Given the description of an element on the screen output the (x, y) to click on. 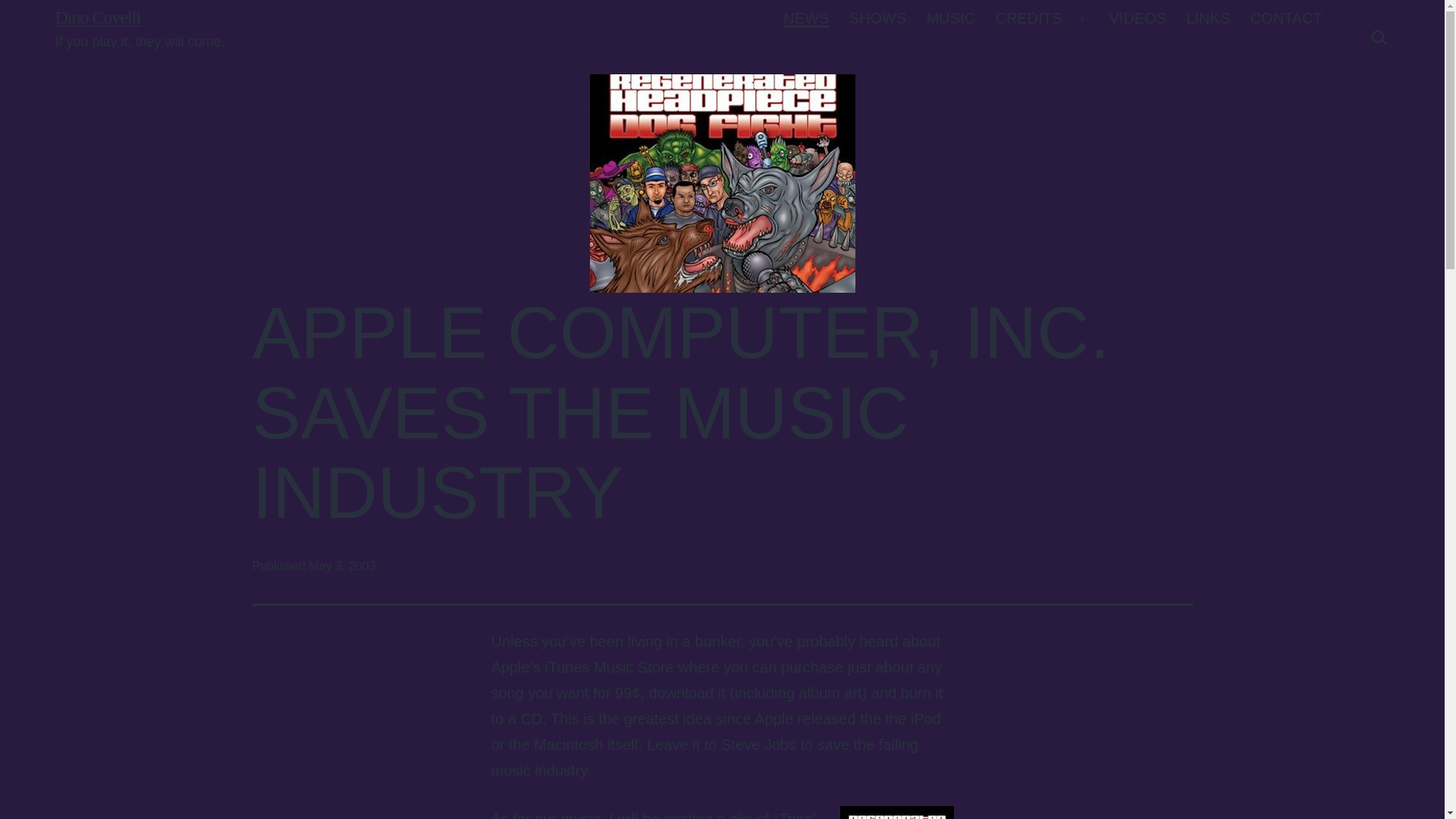
LINKS (1208, 18)
VIDEOS (1137, 18)
CONTACT (1286, 18)
MUSIC (950, 18)
NEWS (805, 18)
CREDITS (1028, 18)
Dino Covelli (97, 17)
SHOWS (878, 18)
Dog Fight (896, 812)
